Given the description of an element on the screen output the (x, y) to click on. 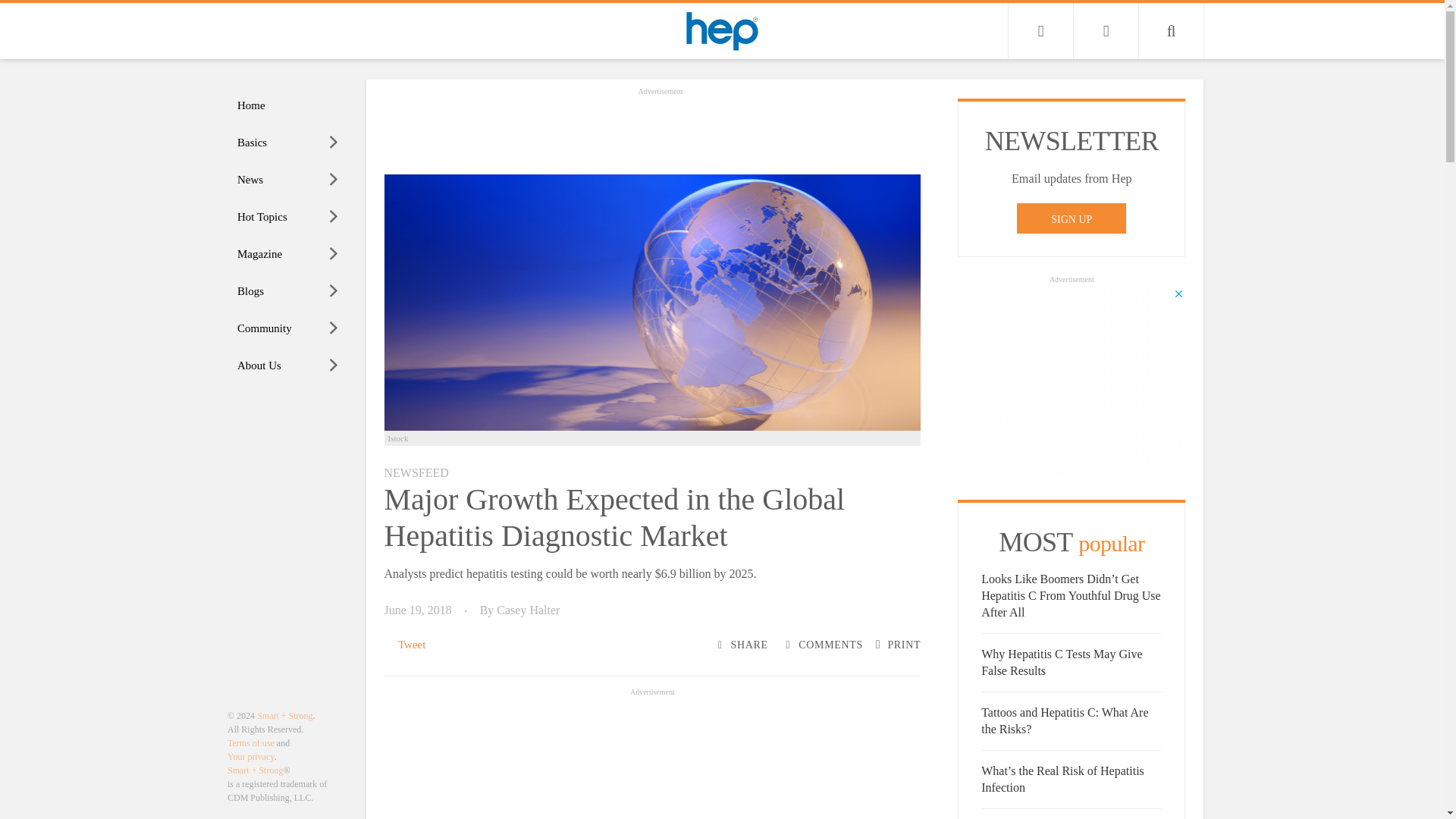
3rd party ad content (1071, 381)
News (288, 180)
3rd party ad content (651, 759)
Basics (288, 142)
Hot Topics (288, 217)
3rd party ad content (660, 132)
Home (288, 105)
